Given the description of an element on the screen output the (x, y) to click on. 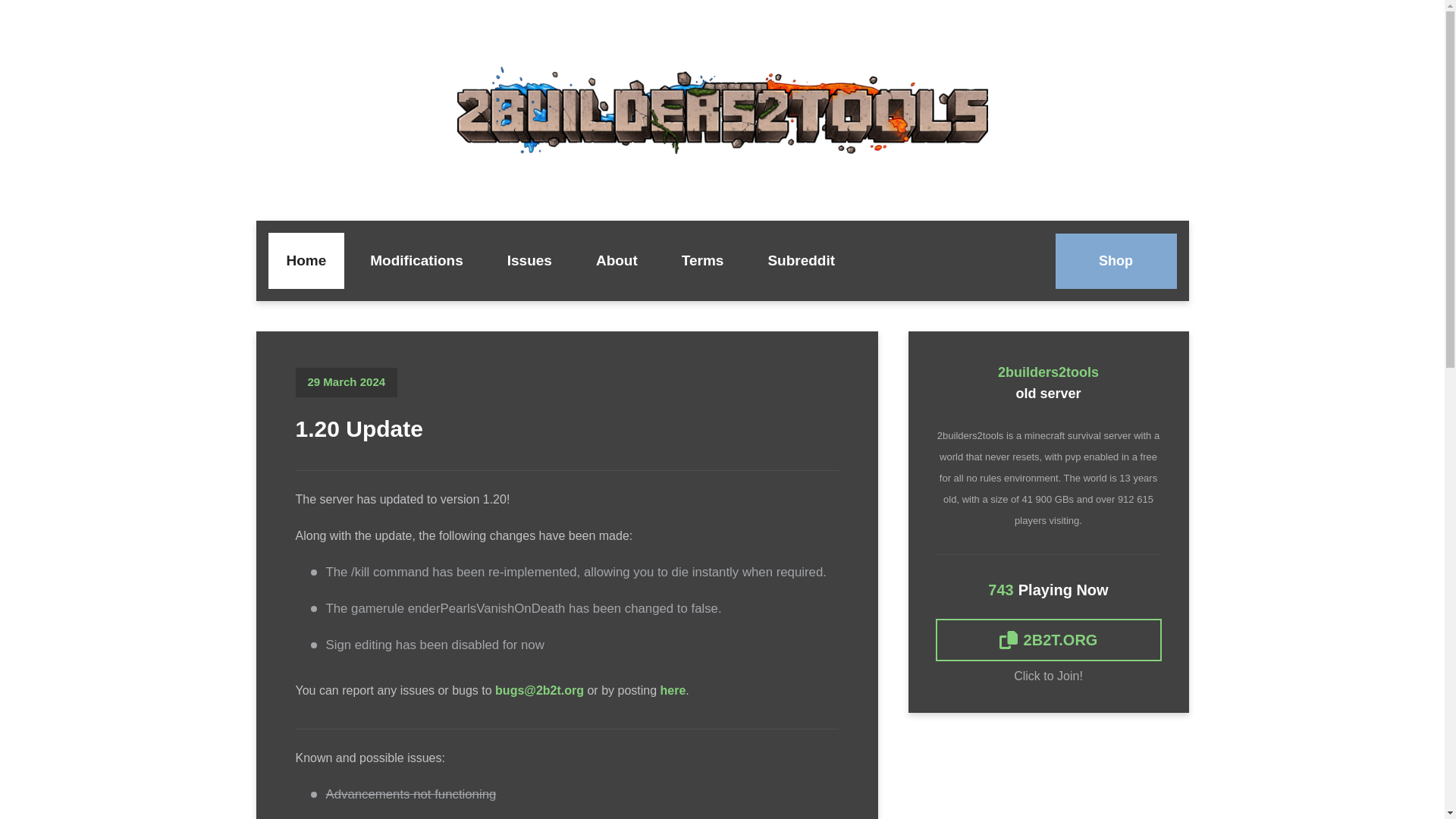
About (617, 260)
here (673, 689)
Modifications (416, 260)
Issues (529, 260)
2B2T.ORG (1048, 639)
Home (306, 260)
Terms (702, 260)
Shop (1115, 261)
Subreddit (801, 260)
